Given the description of an element on the screen output the (x, y) to click on. 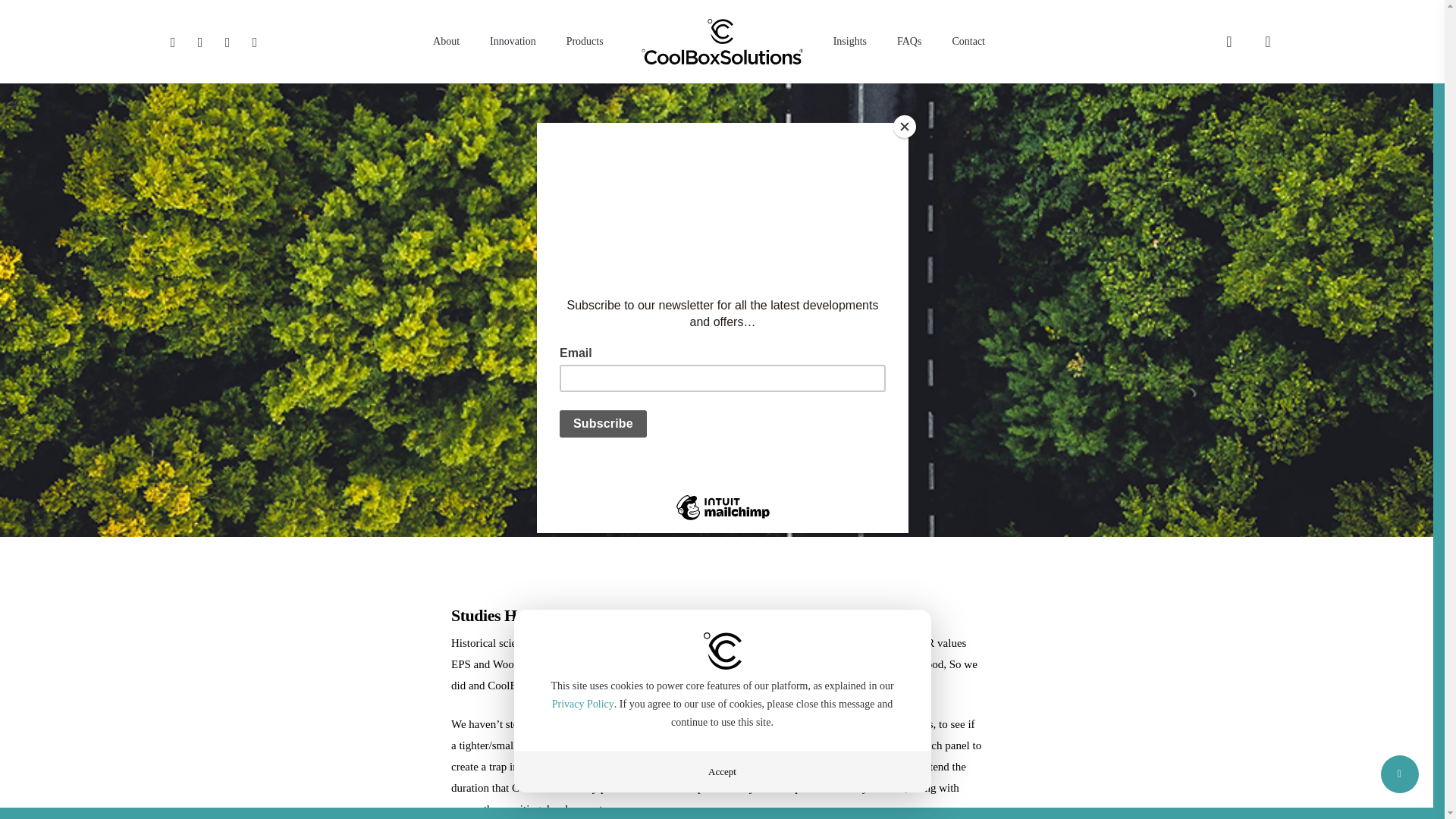
Innovation (512, 41)
About (445, 41)
facebook (200, 41)
search (1229, 41)
Products (584, 41)
twitter (172, 41)
Insights (850, 41)
linkedin (227, 41)
News (708, 331)
Contact (968, 41)
instagram (254, 41)
FAQs (909, 41)
